Given the description of an element on the screen output the (x, y) to click on. 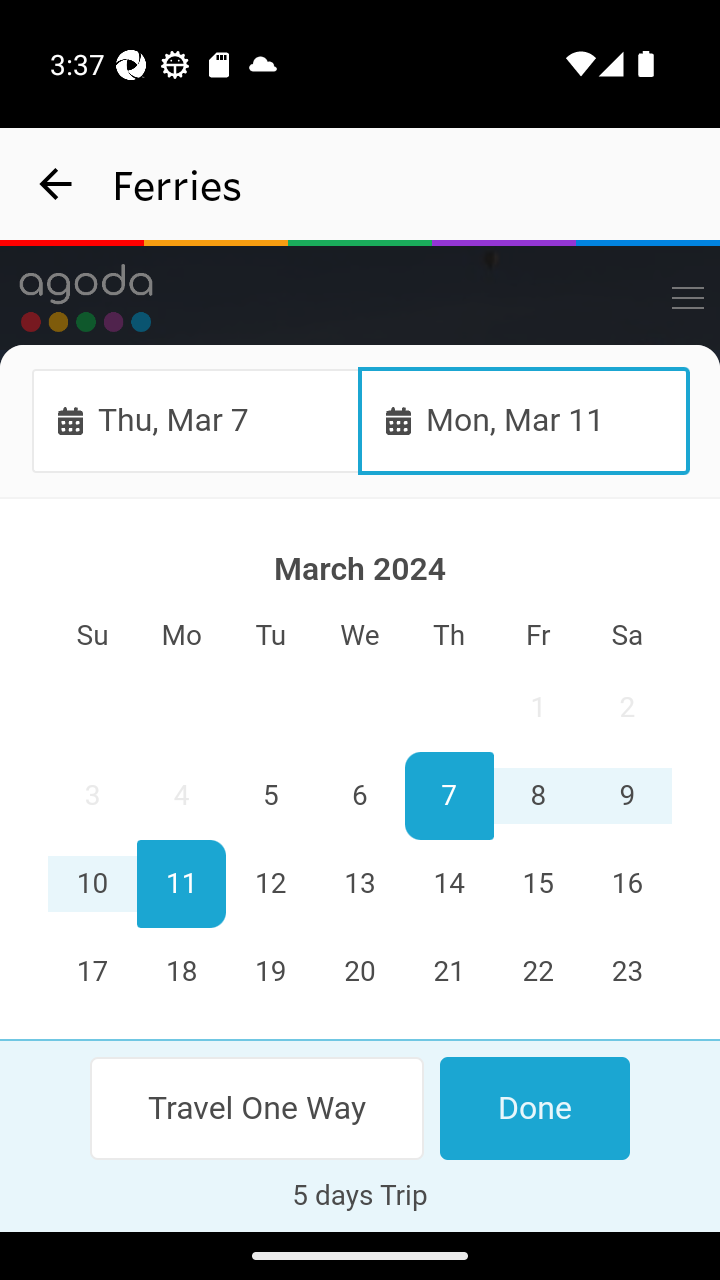
navigation_button (56, 184)
Link to main page 5418 (86, 298)
Mon, Mar 11 (524, 420)
1 (537, 708)
2 (626, 708)
3 (93, 797)
4 (182, 797)
5 (271, 797)
6 (359, 797)
7 (448, 797)
8 (537, 797)
9 (626, 797)
10 (93, 884)
11 (182, 884)
12 (271, 884)
13 (359, 884)
14 (448, 884)
15 (537, 884)
16 (626, 884)
17 (93, 972)
18 (182, 972)
19 (271, 972)
20 (359, 972)
21 (448, 972)
22 (537, 972)
23 (626, 972)
Travel One Way (258, 1107)
Done (534, 1107)
